Given the description of an element on the screen output the (x, y) to click on. 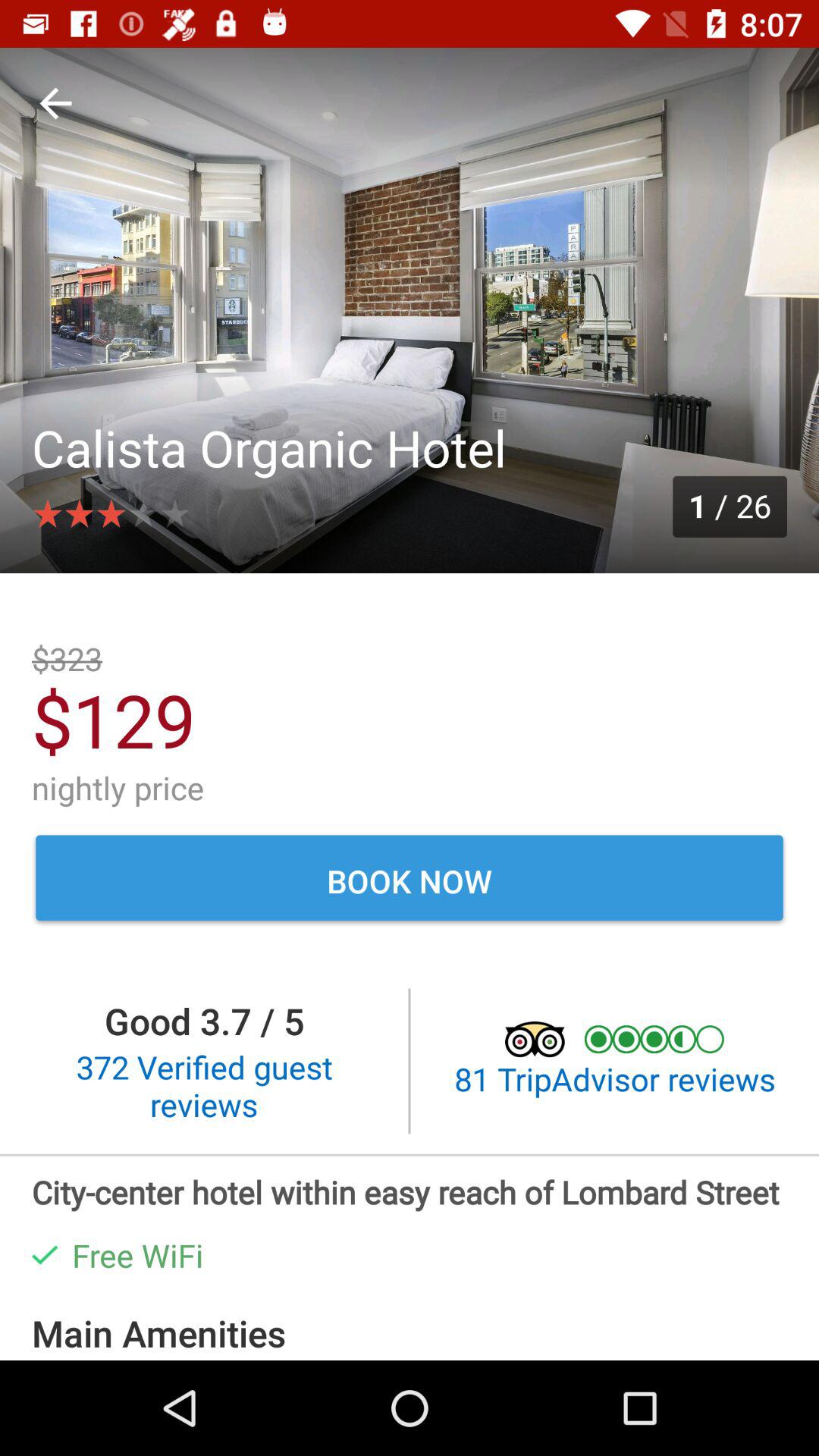
choose book now at the center (409, 880)
